Given the description of an element on the screen output the (x, y) to click on. 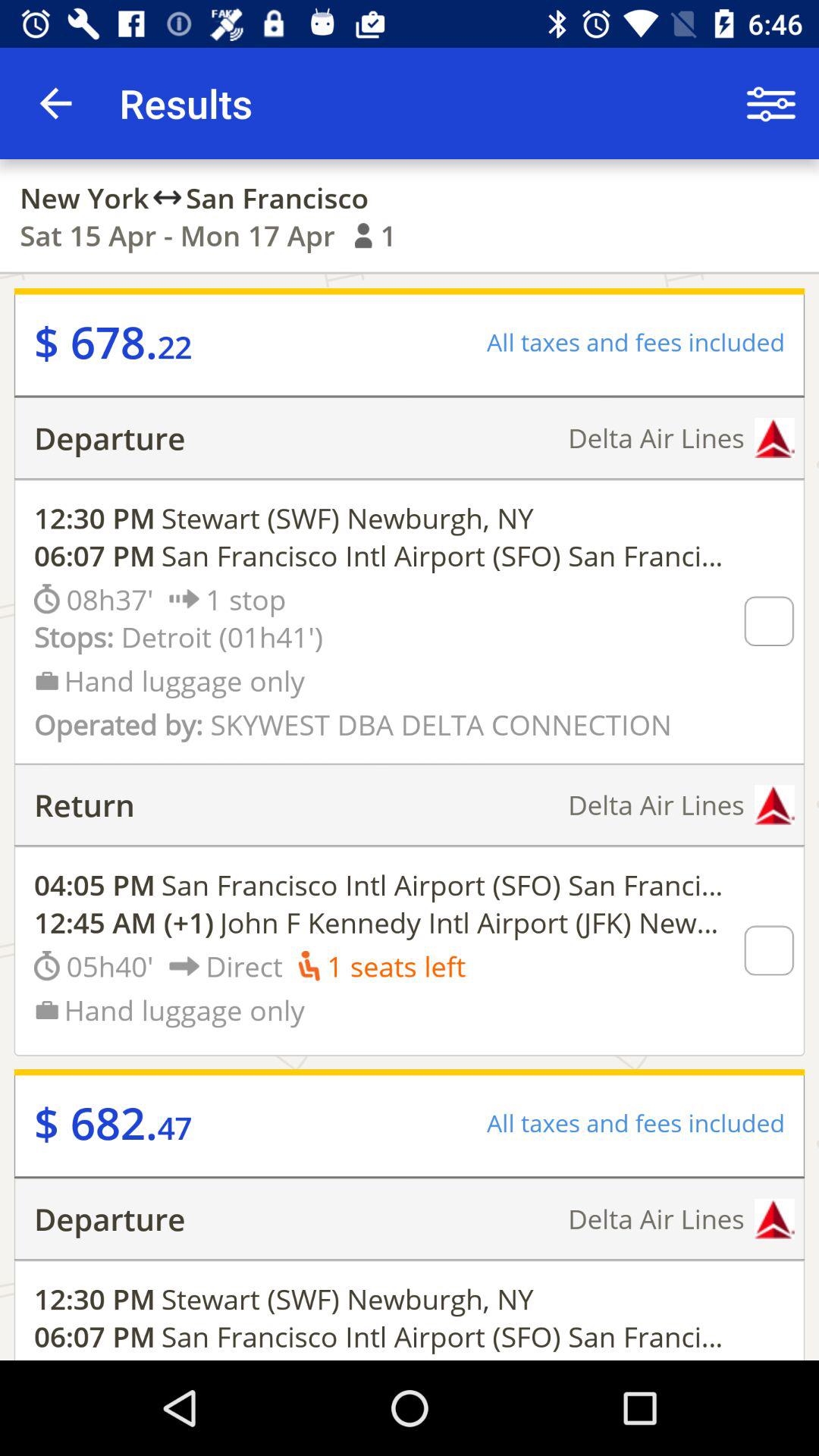
select the symbol which is left to 1 seats left text (309, 965)
